Given the description of an element on the screen output the (x, y) to click on. 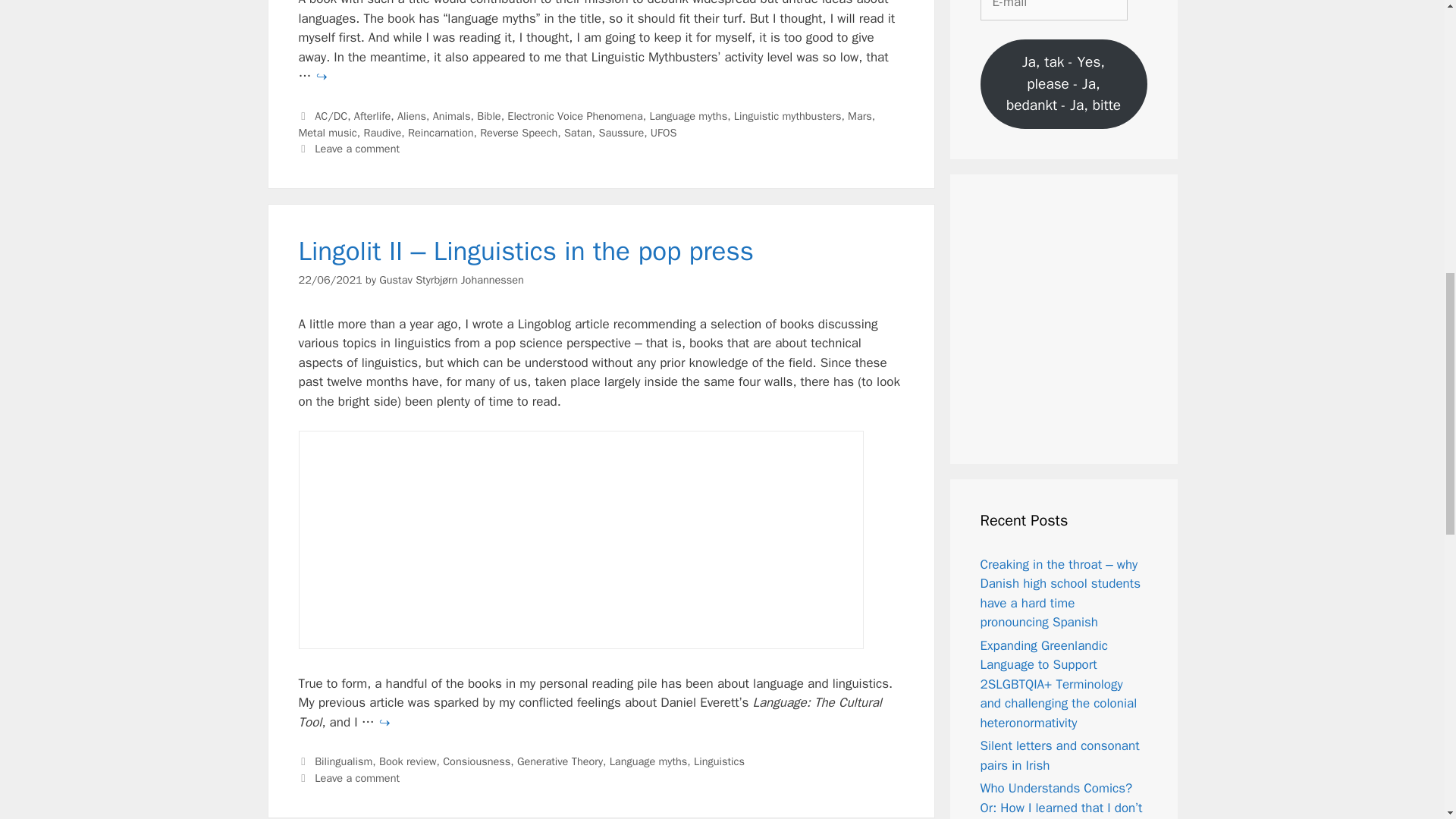
Metal music (327, 132)
Linguistics (719, 761)
Consiousness (476, 761)
Reverse Speech (518, 132)
Book review (407, 761)
Bilingualism (343, 761)
UFOS (663, 132)
Reincarnation (440, 132)
Mars (859, 115)
Language myths (687, 115)
